Given the description of an element on the screen output the (x, y) to click on. 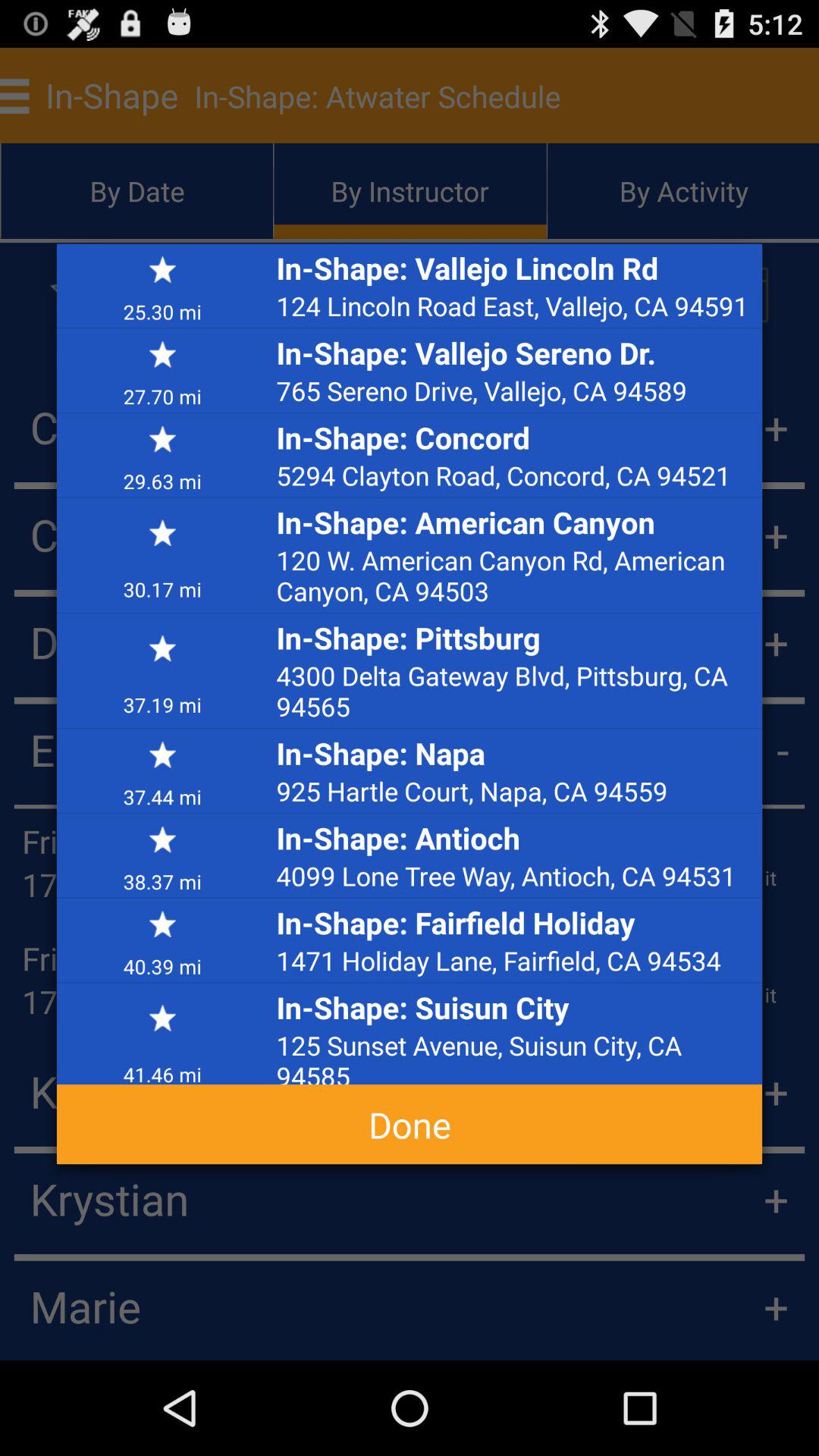
launch the app below the in shape suisun icon (515, 1055)
